Given the description of an element on the screen output the (x, y) to click on. 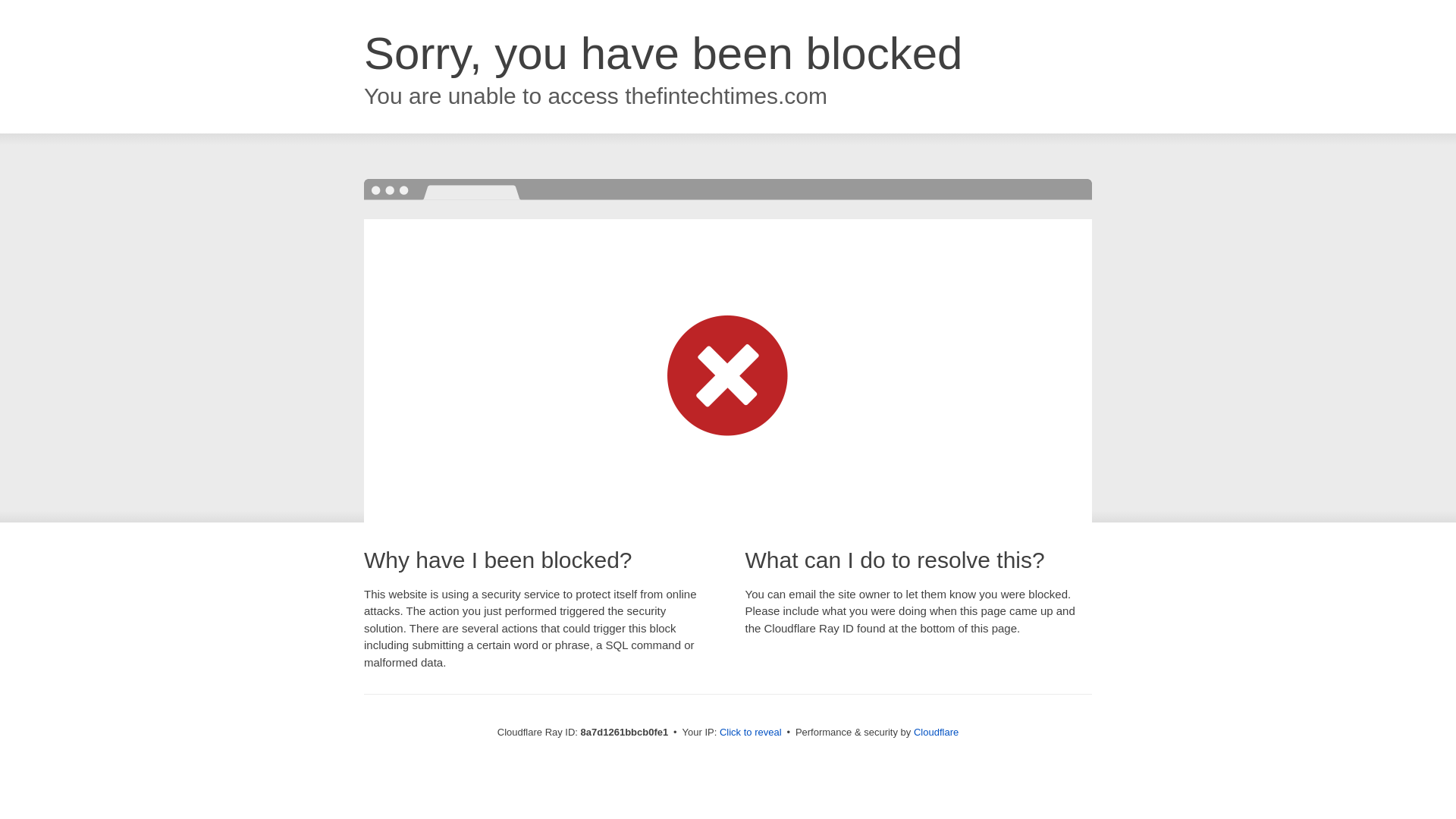
Click to reveal (750, 732)
Cloudflare (936, 731)
